Given the description of an element on the screen output the (x, y) to click on. 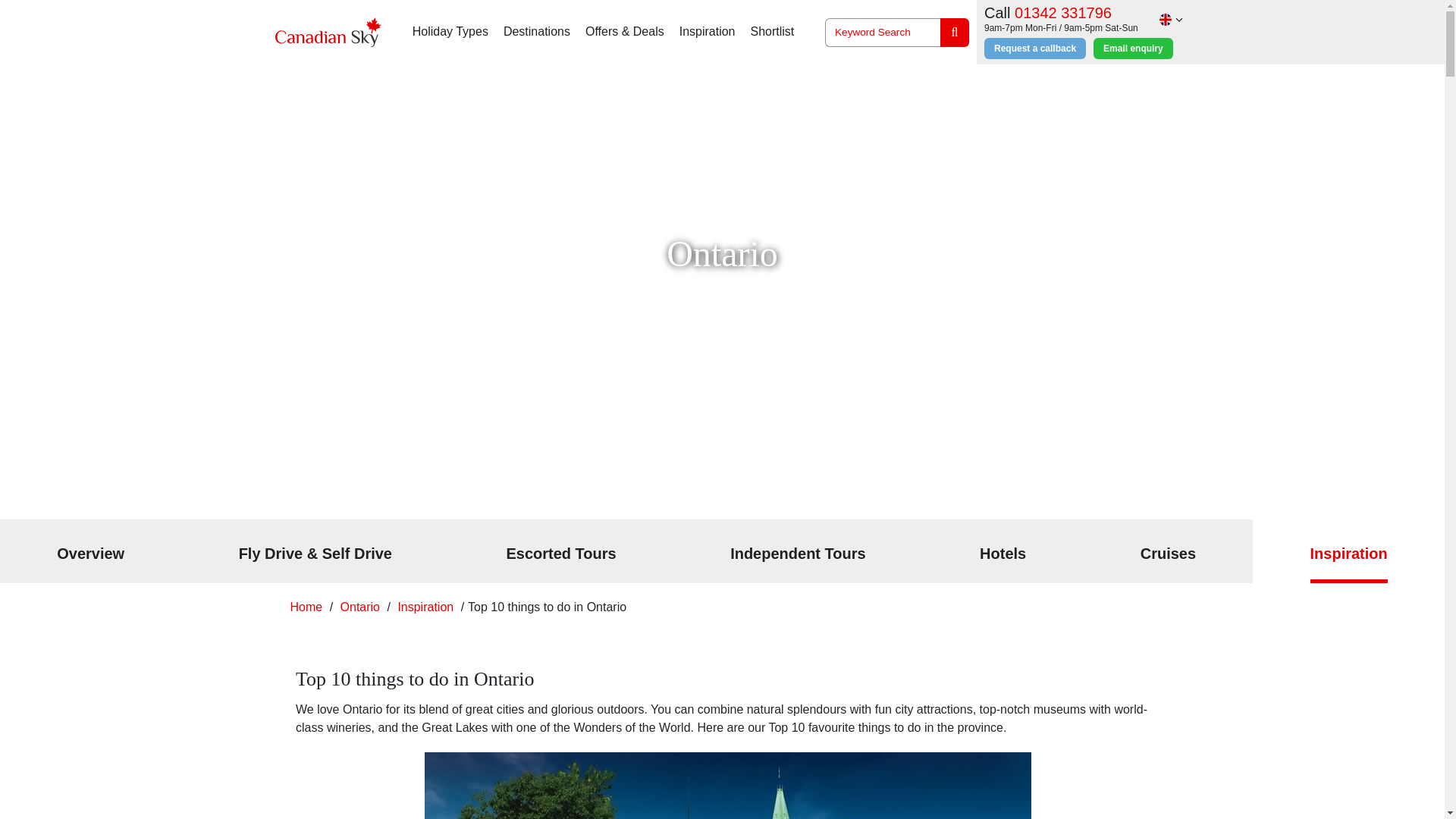
Destinations (537, 32)
Holiday Types (450, 32)
Canadian Sky (328, 32)
